Given the description of an element on the screen output the (x, y) to click on. 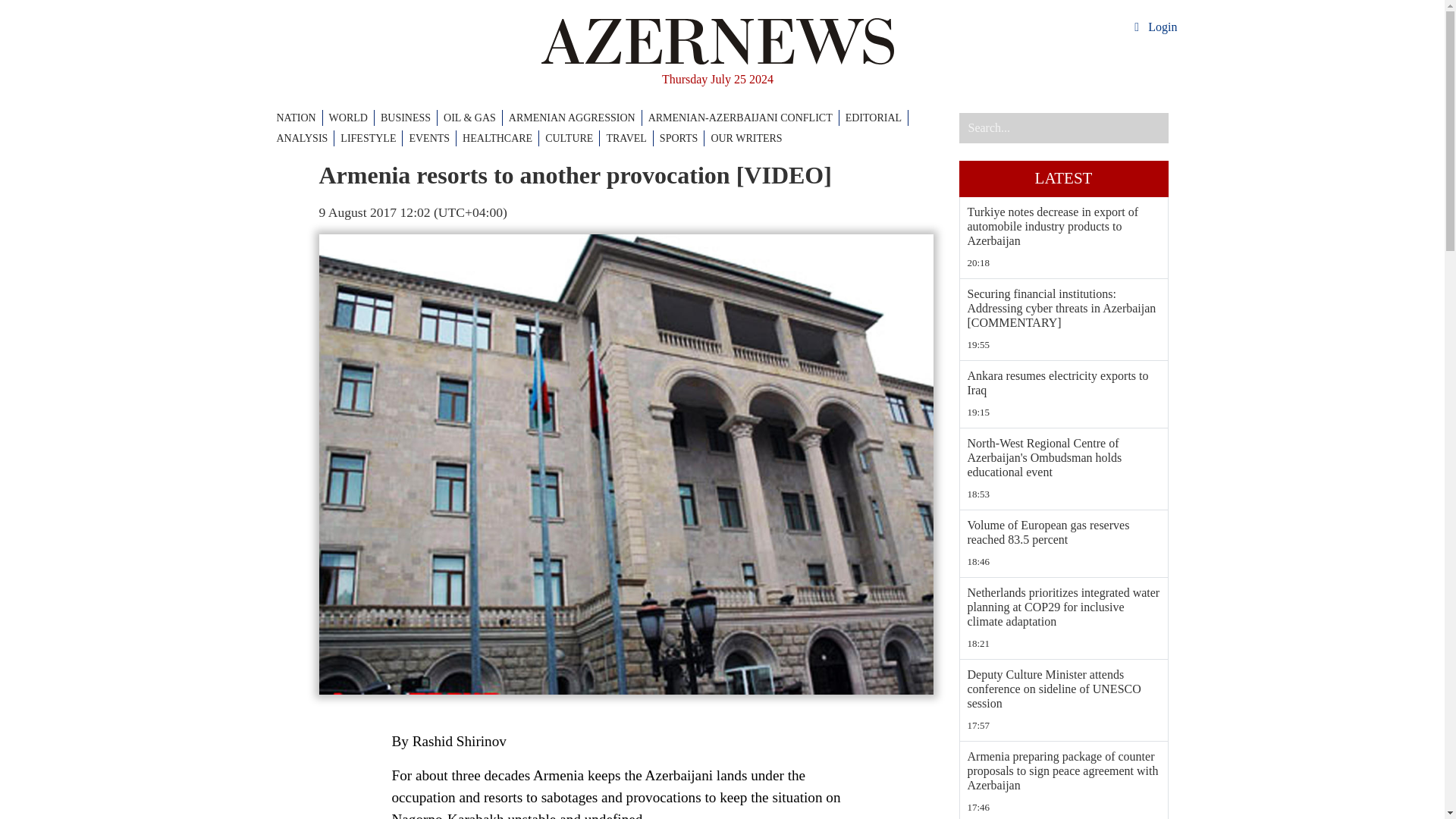
18:46 (1064, 561)
LIFESTYLE (371, 138)
BUSINESS (409, 117)
EDITORIAL (876, 117)
WORLD (351, 117)
CULTURE (571, 138)
ANALYSIS (305, 138)
Login (1152, 26)
ARMENIAN-AZERBAIJANI CONFLICT (743, 117)
ARMENIAN AGGRESSION (575, 117)
NATION (298, 117)
18:53 (1064, 494)
OUR WRITERS (745, 138)
Ankara resumes electricity exports to Iraq (1064, 382)
